Given the description of an element on the screen output the (x, y) to click on. 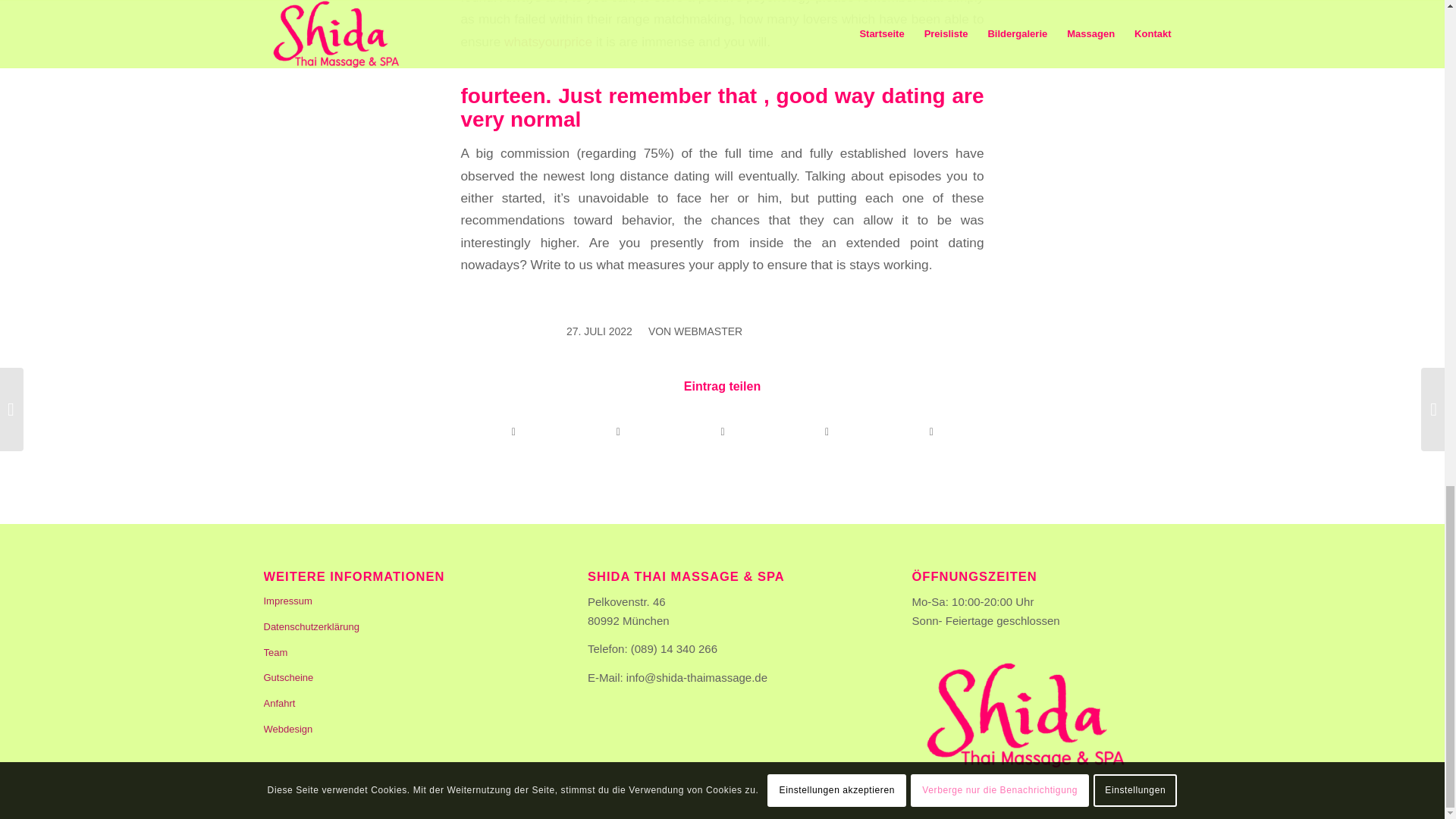
WEBMASTER (708, 331)
Impressum (397, 601)
whatsyourprice (547, 41)
Gutscheine (397, 678)
Webdesign (397, 729)
Anfahrt (397, 704)
Team (397, 653)
